Given the description of an element on the screen output the (x, y) to click on. 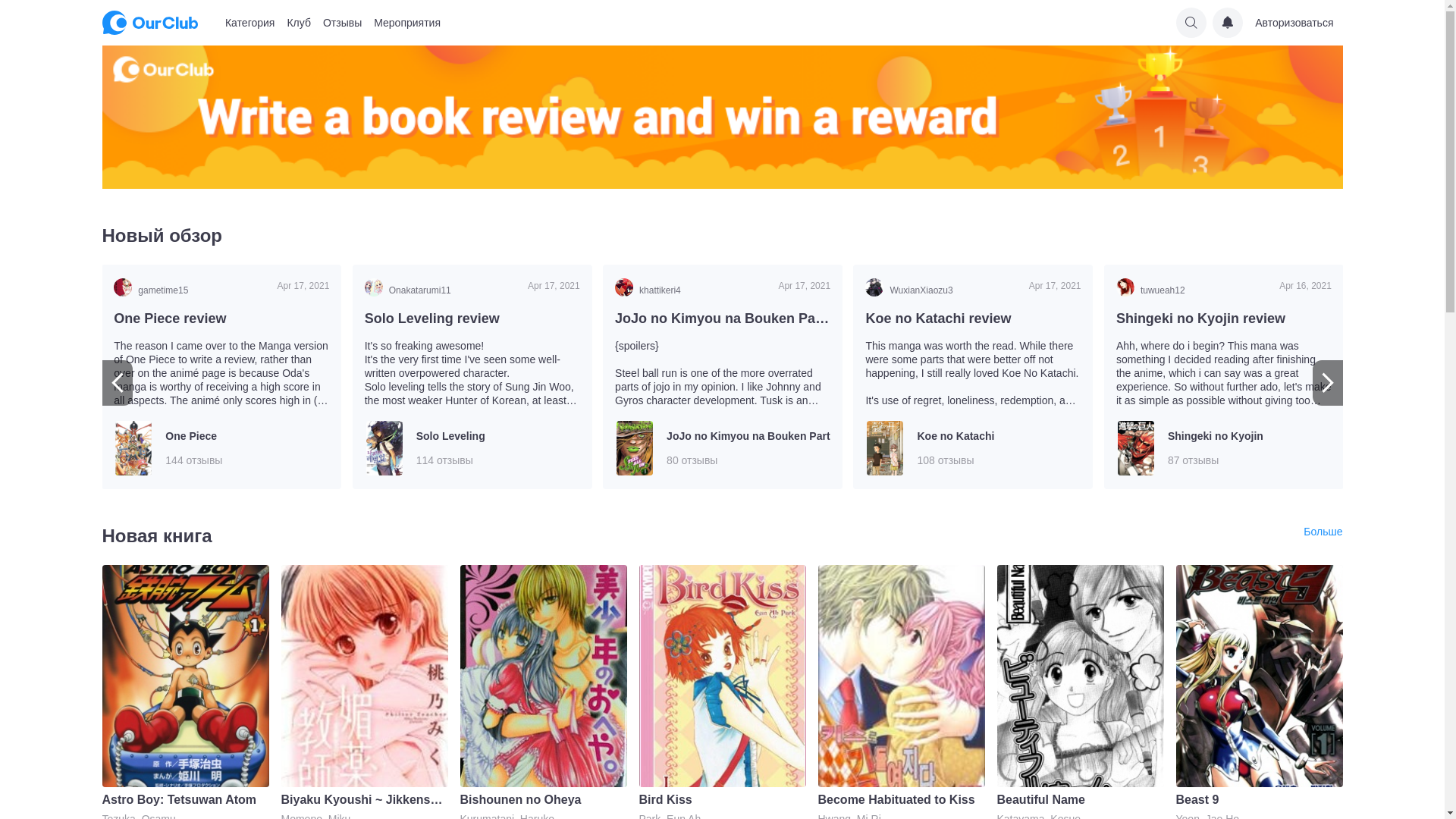
pikachu349 Element type: text (190, 287)
zuultek5 Element type: text (943, 287)
Jans6ever3 Element type: text (692, 287)
Ro-ro3314 Element type: text (441, 287)
Knightmare_Otaku11 Element type: text (1193, 287)
our club activity Element type: hover (722, 116)
